Given the description of an element on the screen output the (x, y) to click on. 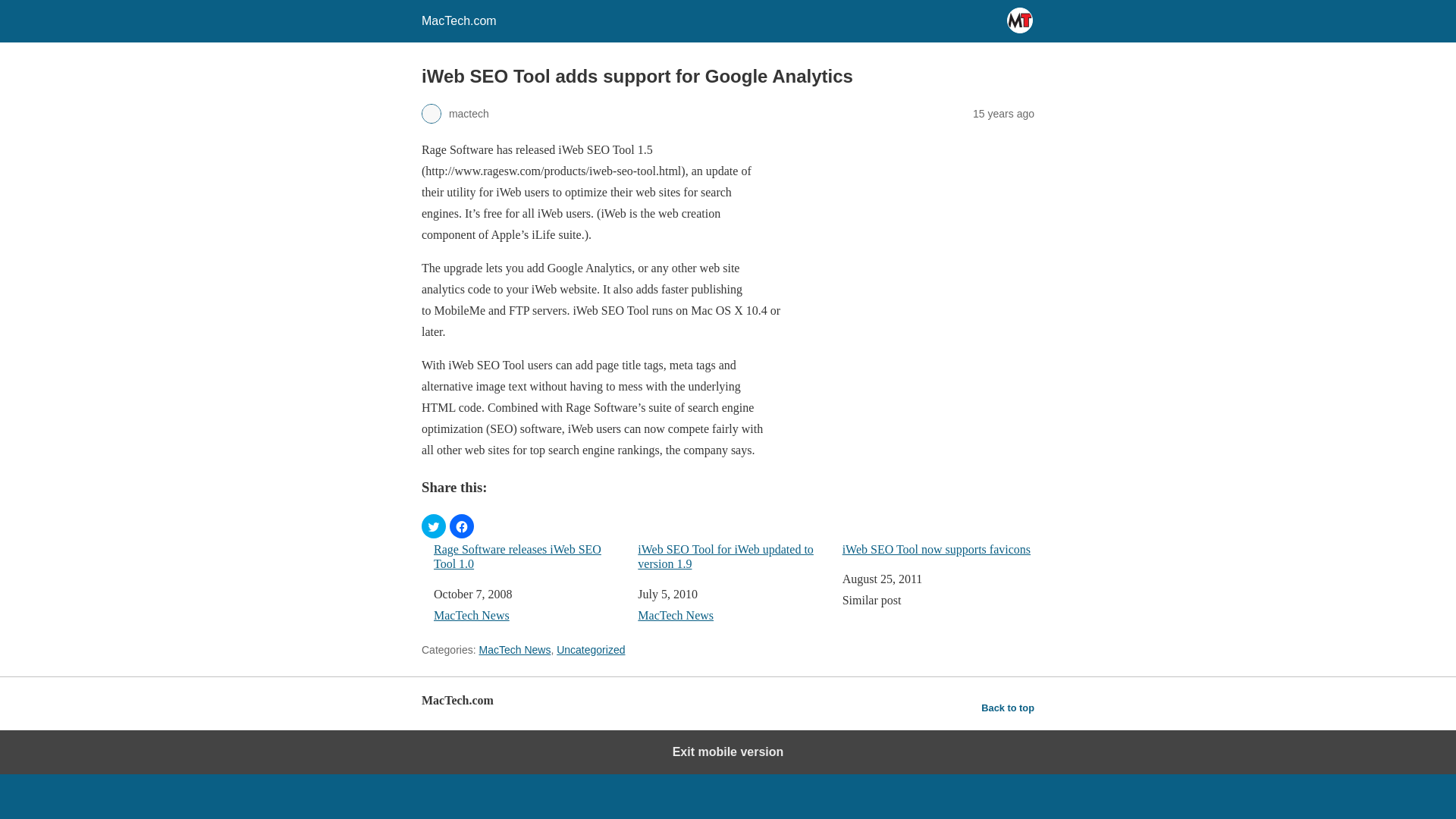
Click to share on Facebook (461, 526)
iWeb SEO Tool now supports favicons (938, 549)
Uncategorized (590, 649)
MacTech.com (459, 20)
Back to top (1007, 708)
iWeb SEO Tool for iWeb updated to version 1.9 (733, 556)
MacTech News (471, 615)
Rage Software releases iWeb SEO Tool 1.0 (529, 556)
MacTech News (514, 649)
Click to share on Twitter (433, 526)
